Given the description of an element on the screen output the (x, y) to click on. 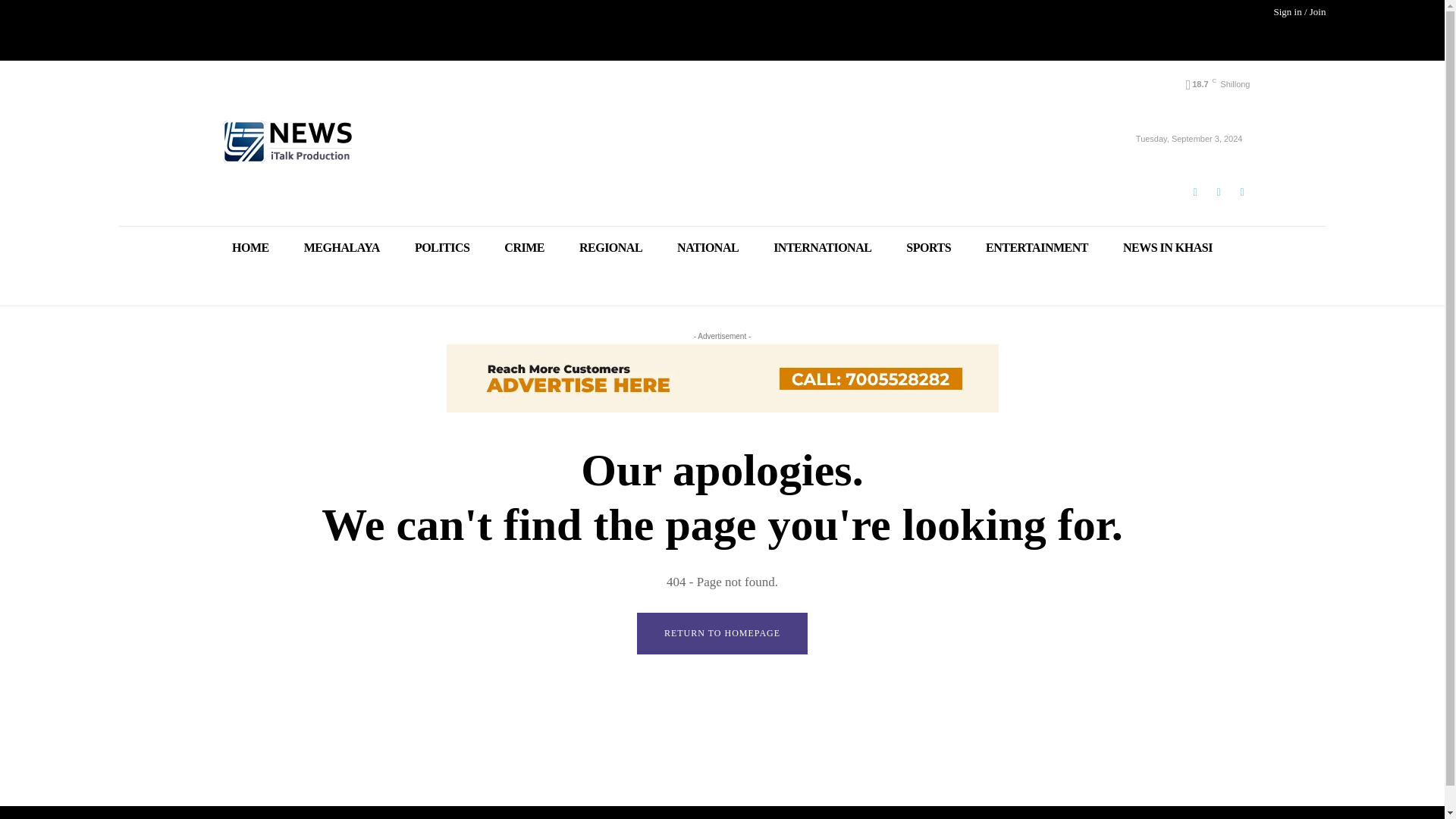
Return to Homepage (722, 633)
CRIME (524, 247)
REGIONAL (610, 247)
NATIONAL (707, 247)
Facebook (1194, 191)
MEGHALAYA (341, 247)
SPORTS (928, 247)
INTERNATIONAL (821, 247)
Instagram (1217, 191)
NEWS IN KHASI (1167, 247)
